Given the description of an element on the screen output the (x, y) to click on. 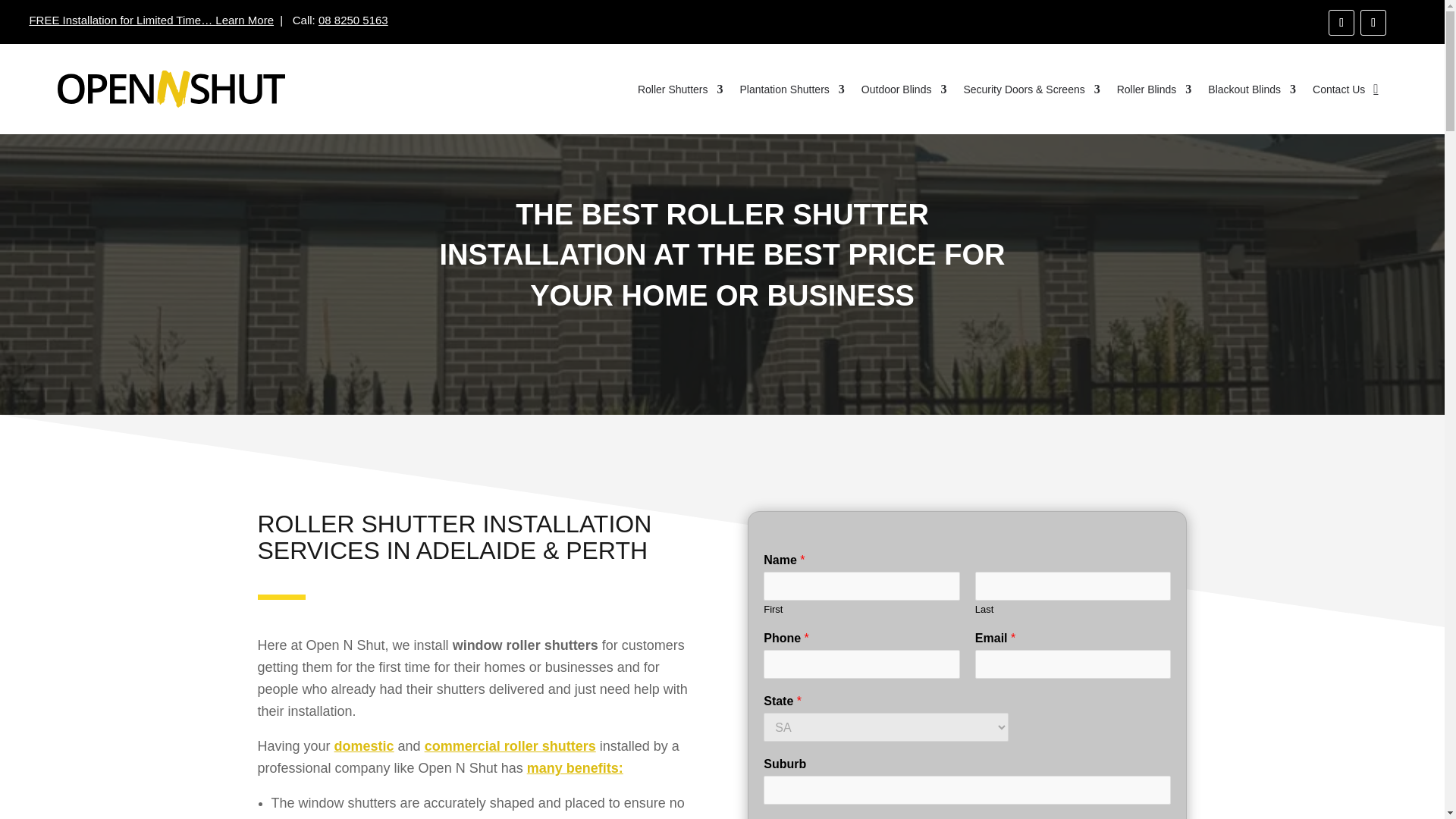
Plantation Shutters (791, 88)
Blackout Blinds (1251, 88)
domestic (364, 745)
Roller Blinds (1154, 88)
Outdoor Blinds (904, 88)
Contact Us (1339, 88)
Follow on Instagram (1372, 22)
Roller Shutters (680, 88)
08 8250 5163 (353, 19)
Follow on Facebook (1340, 22)
